Given the description of an element on the screen output the (x, y) to click on. 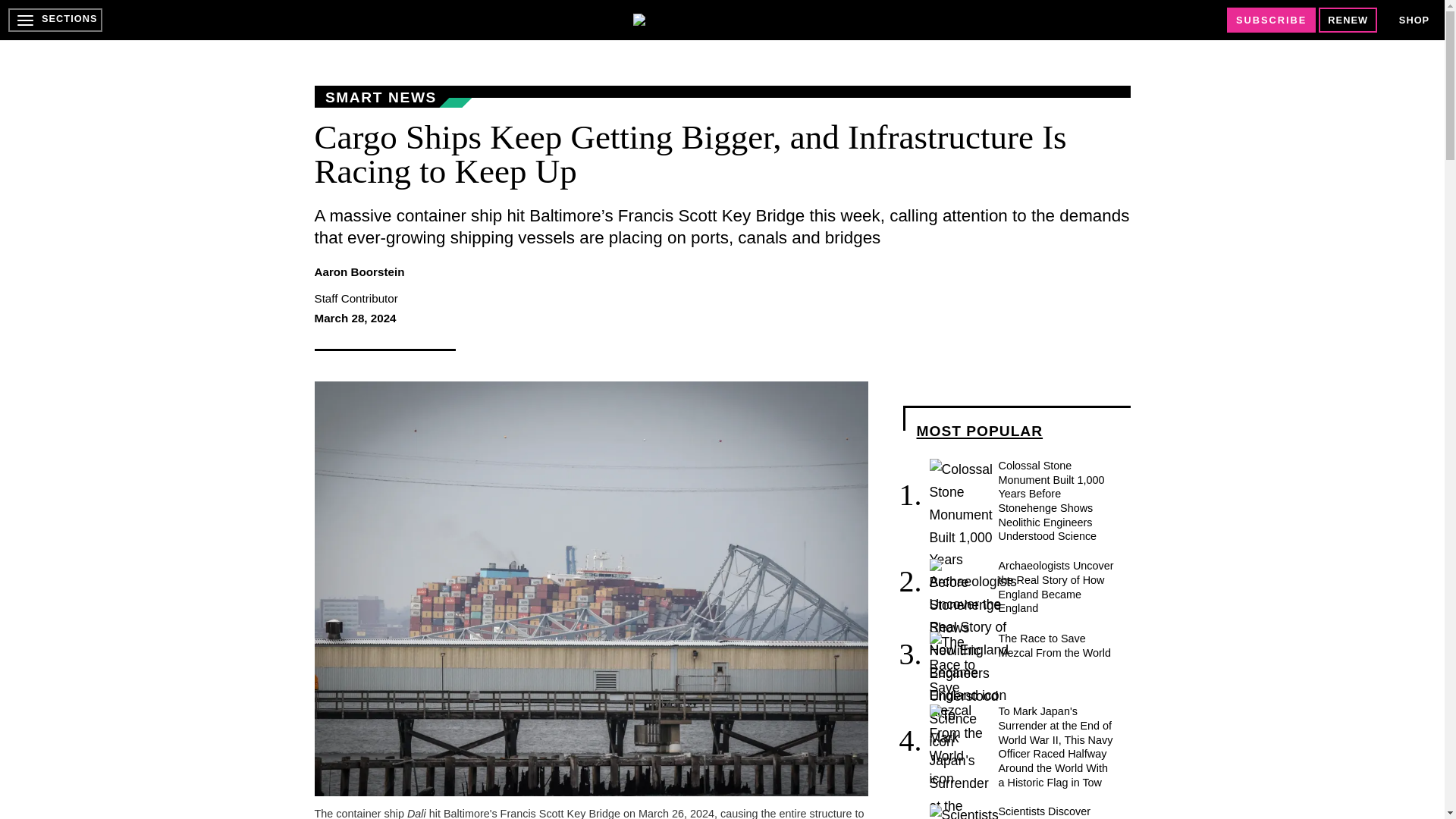
SUBSCRIBE (1271, 19)
SUBSCRIBE (1271, 19)
RENEW (1347, 19)
RENEW (1348, 19)
SHOP (1414, 19)
SECTIONS (55, 19)
SHOP (1413, 19)
